Given the description of an element on the screen output the (x, y) to click on. 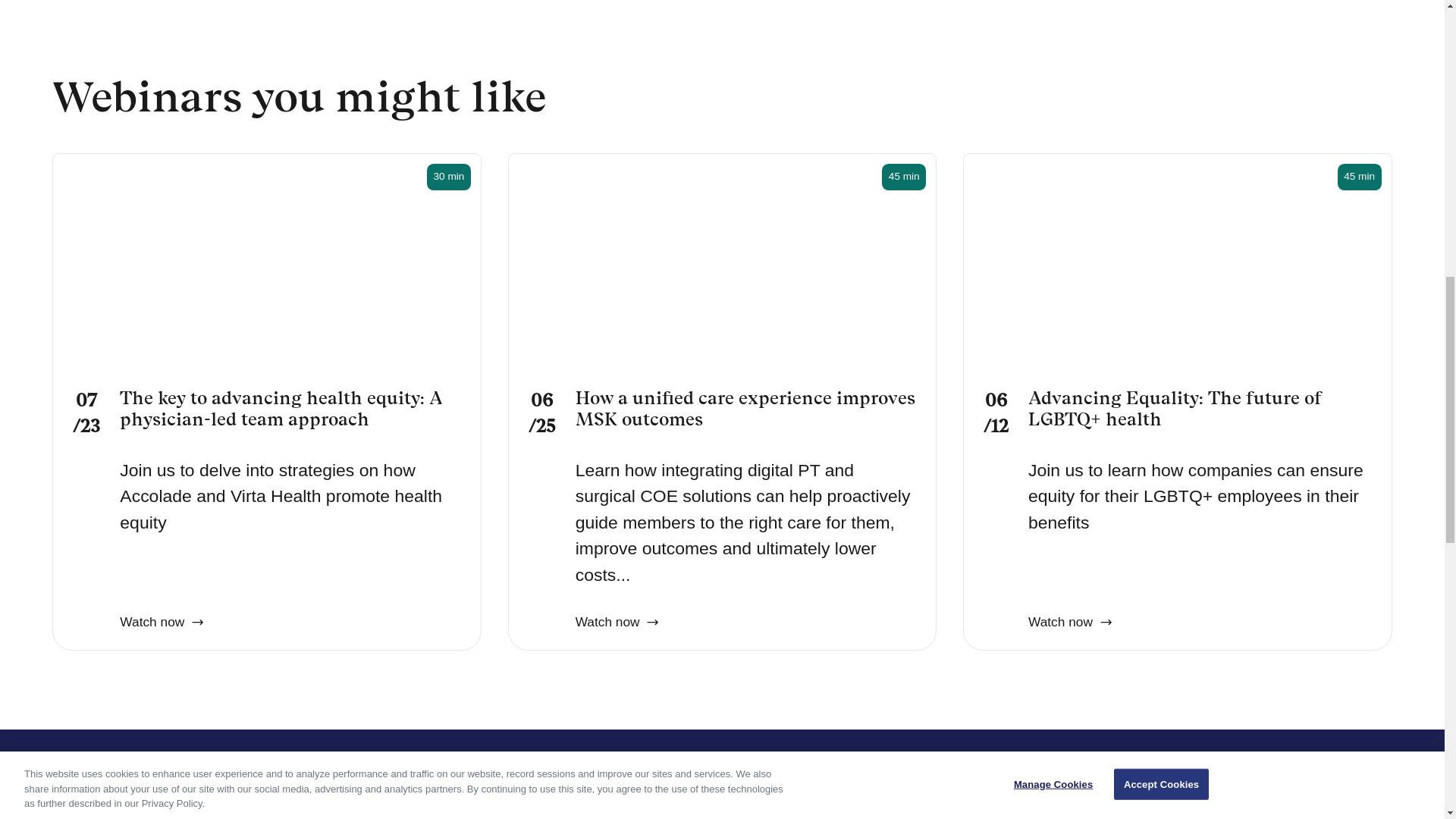
Watch now (617, 608)
Watch now (1069, 608)
Watch now (161, 608)
